Given the description of an element on the screen output the (x, y) to click on. 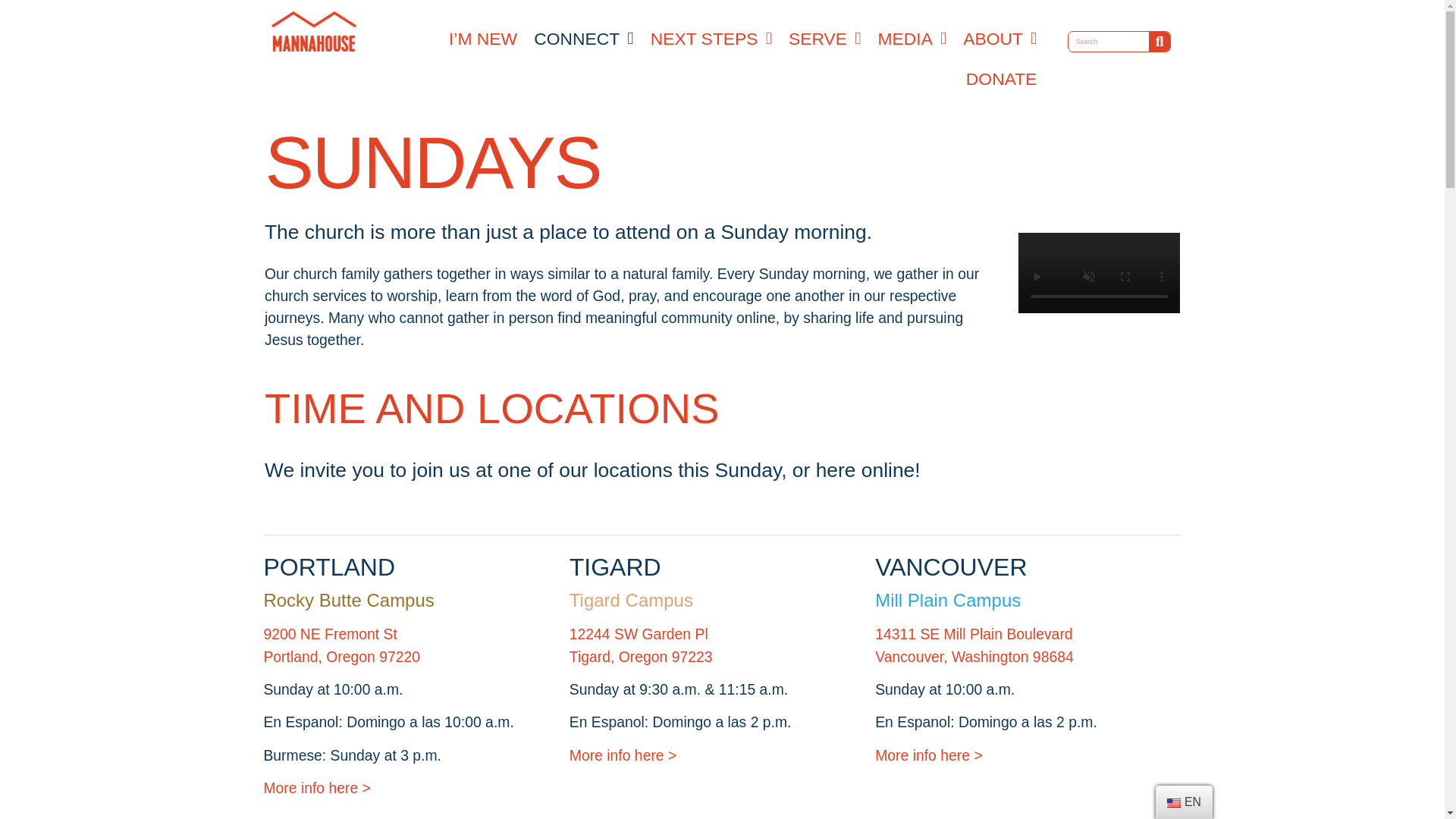
Search (1159, 41)
SERVE (824, 38)
Search (1108, 41)
DONATE (1001, 78)
CONNECT (583, 38)
English (1173, 802)
MEDIA (912, 38)
ABOUT (1000, 38)
NEXT STEPS (711, 38)
